Given the description of an element on the screen output the (x, y) to click on. 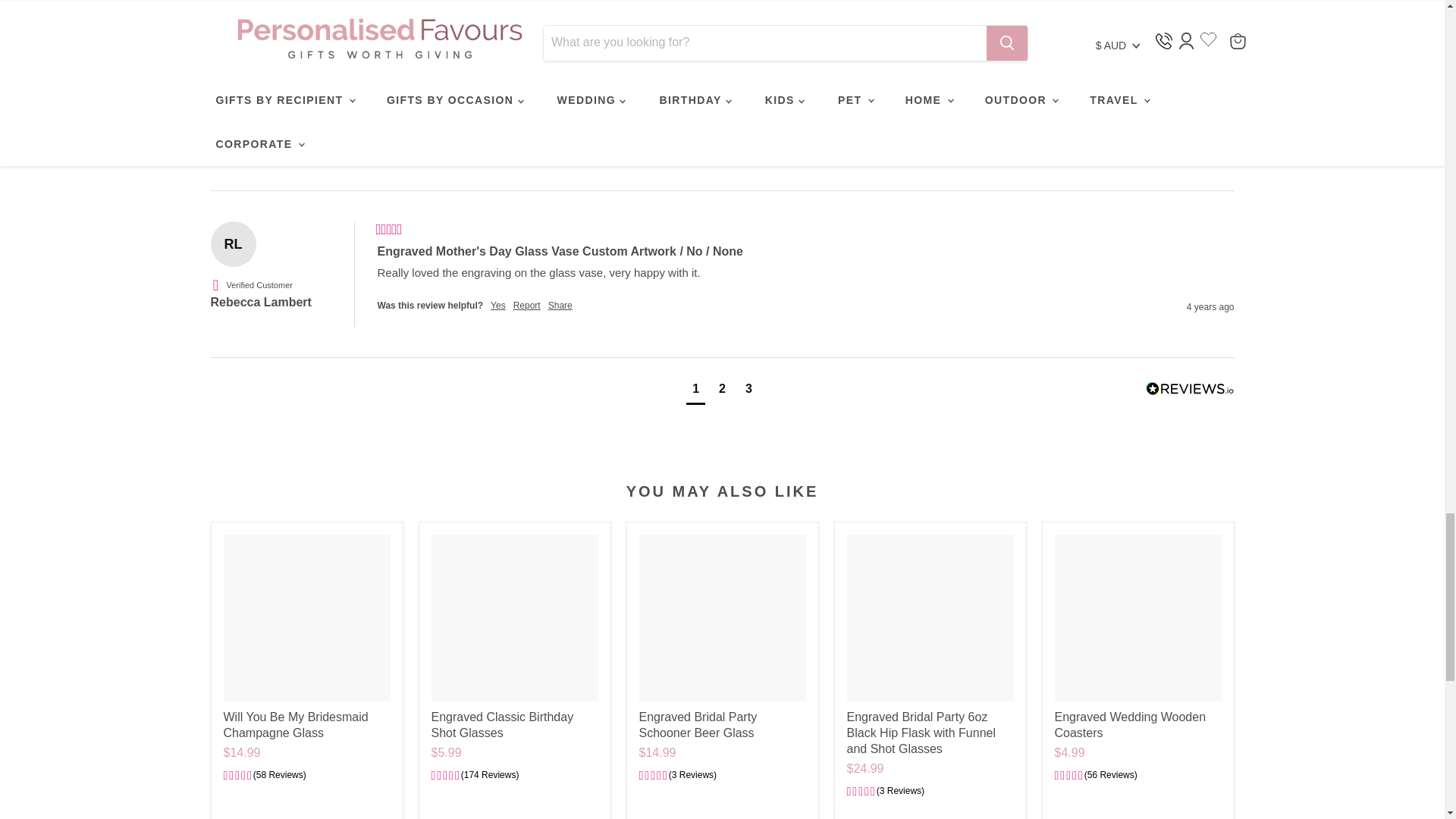
4.96 Stars - 174 Reviews (474, 776)
5 Stars (389, 230)
4.95 Stars - 58 Reviews (263, 776)
5 Stars (389, 64)
5 Stars - 3 Reviews (677, 776)
